Given the description of an element on the screen output the (x, y) to click on. 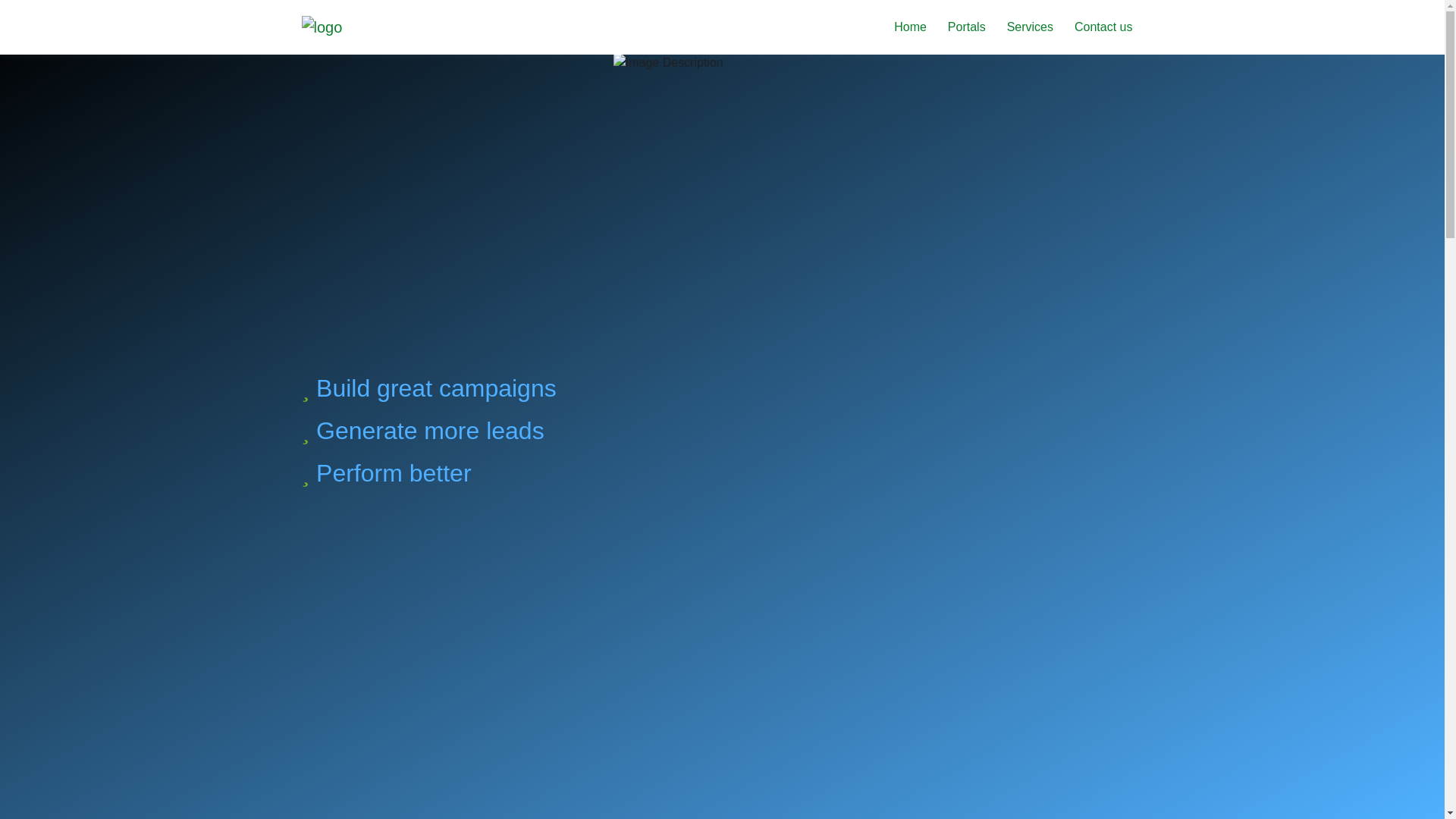
Services (1029, 27)
Contact us (1103, 27)
Portals (966, 27)
